Given the description of an element on the screen output the (x, y) to click on. 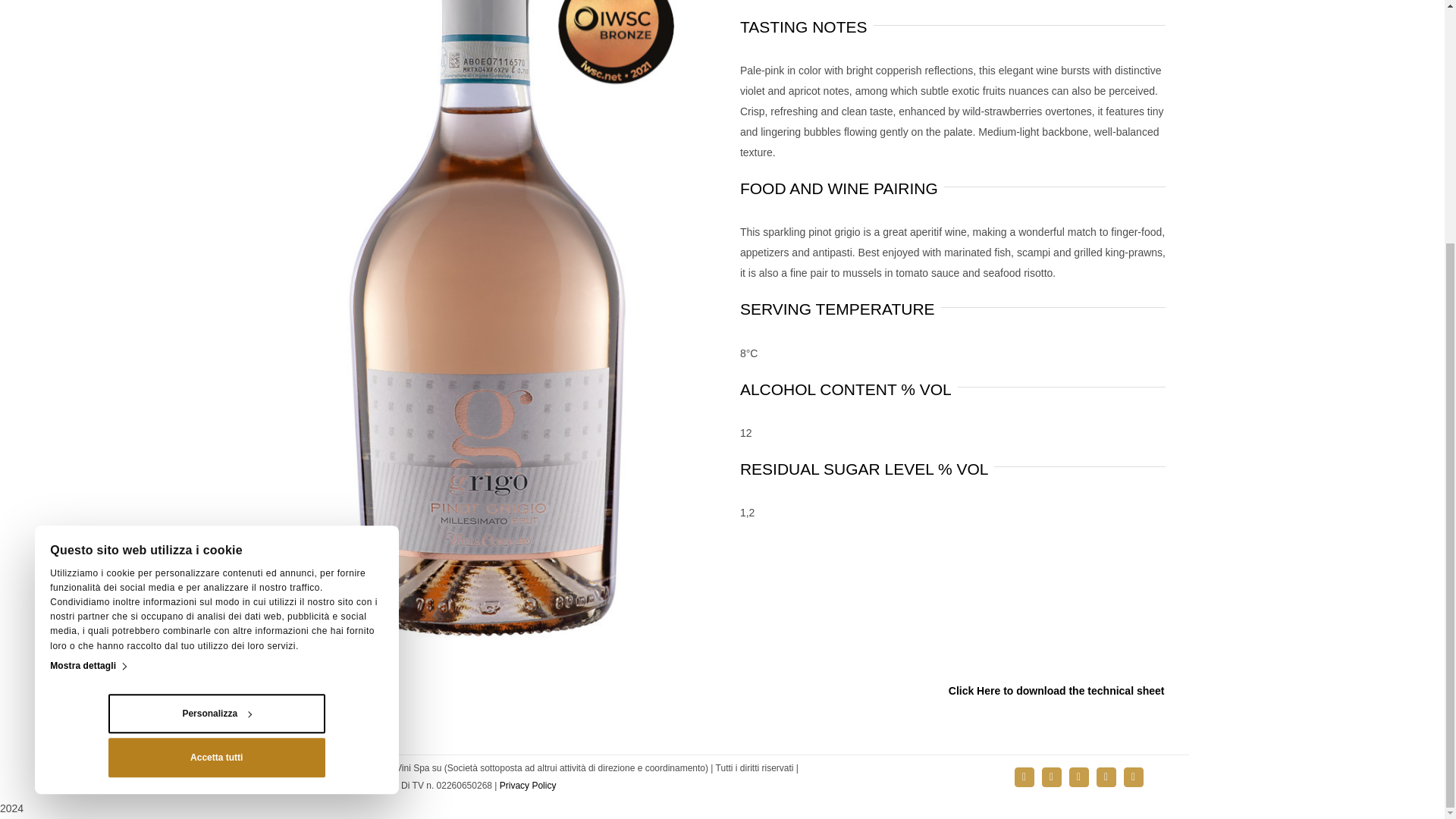
Email (1133, 777)
Personalizza (215, 376)
youtube (1106, 777)
Mostra dettagli (87, 329)
instagram (1051, 777)
facebook (1023, 777)
Accetta tutti (215, 420)
linkedin (1078, 777)
